Given the description of an element on the screen output the (x, y) to click on. 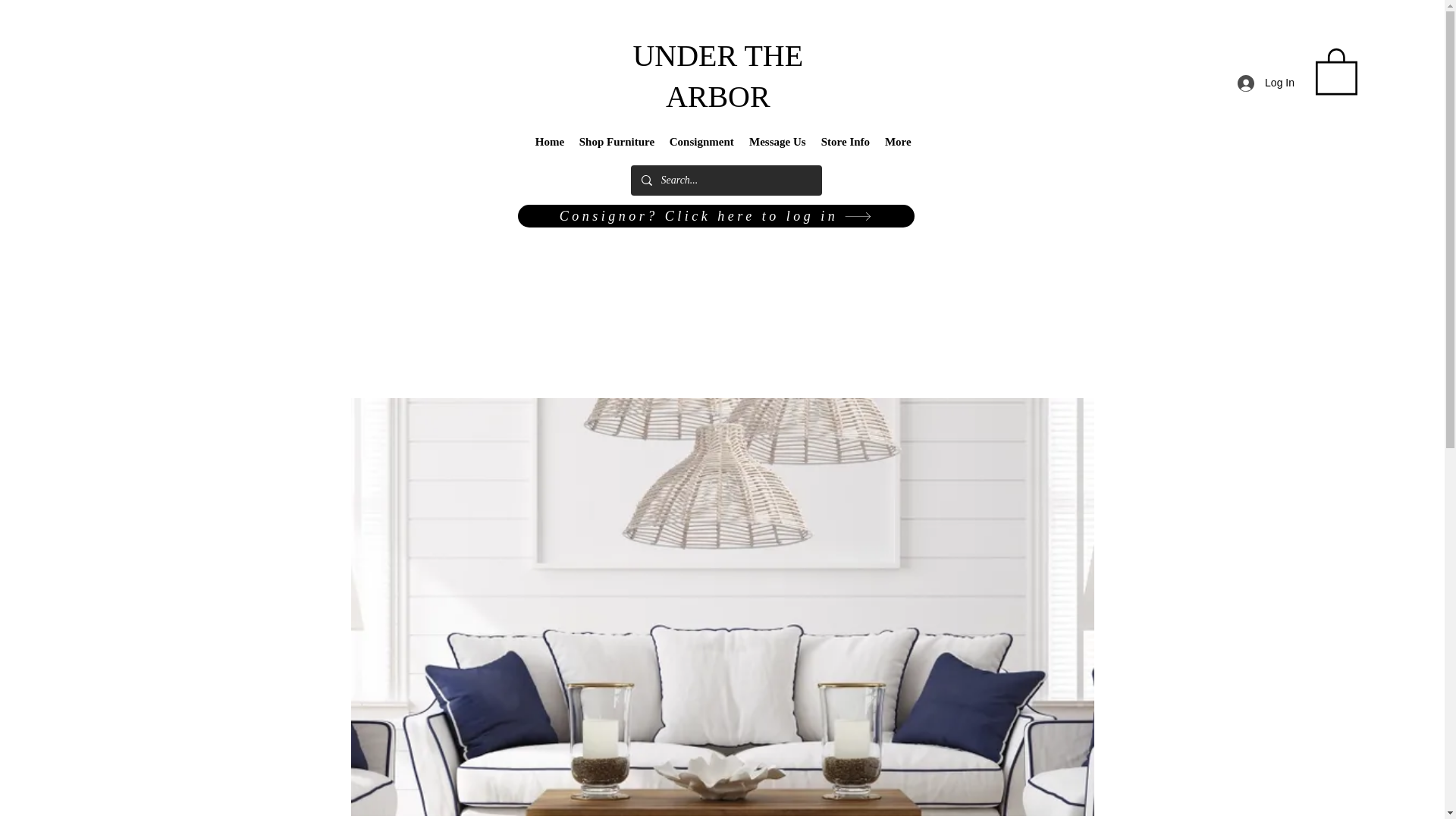
UNDER THE ARBOR (717, 75)
Consignment (701, 141)
Home (549, 141)
Log In (1265, 82)
Consignor? Click here to log in (715, 215)
Shop Furniture (617, 141)
Store Info (845, 141)
Message Us (777, 141)
